Given the description of an element on the screen output the (x, y) to click on. 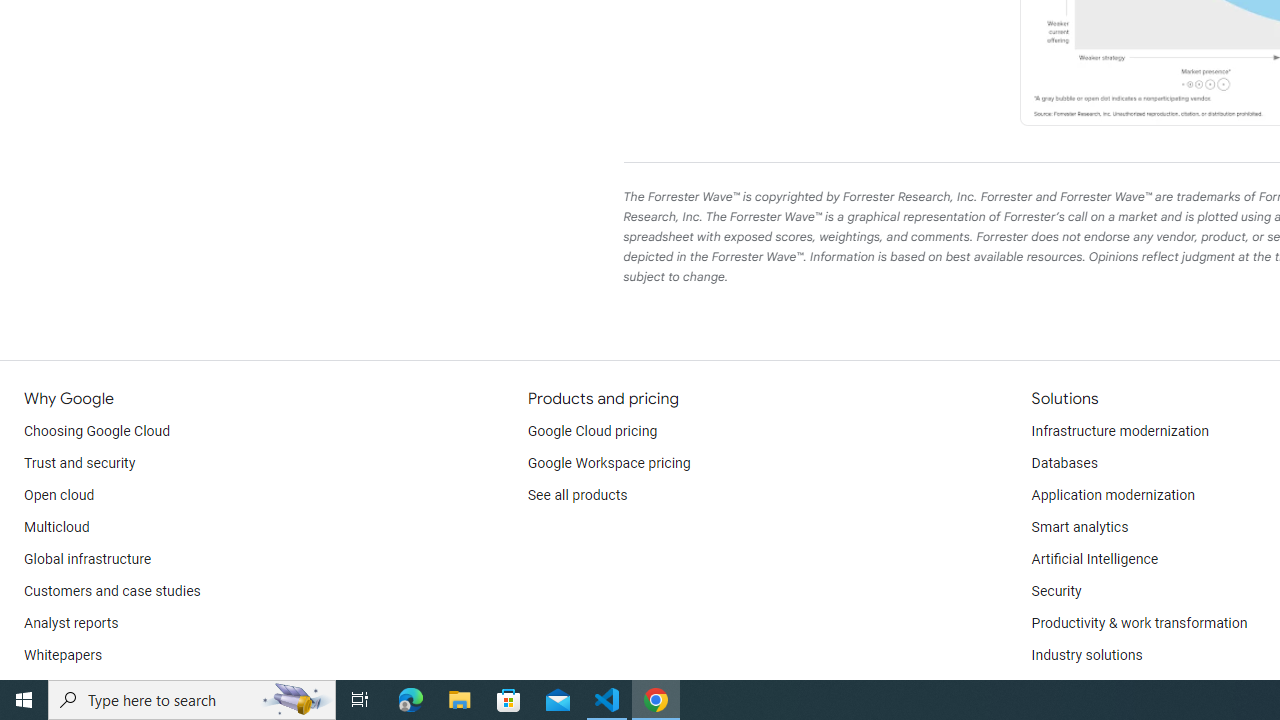
Analyst reports (71, 623)
Whitepapers (63, 655)
Security (1055, 591)
Global infrastructure (88, 560)
Choosing Google Cloud (97, 431)
Smart analytics (1079, 527)
Infrastructure modernization (1119, 431)
